Given the description of an element on the screen output the (x, y) to click on. 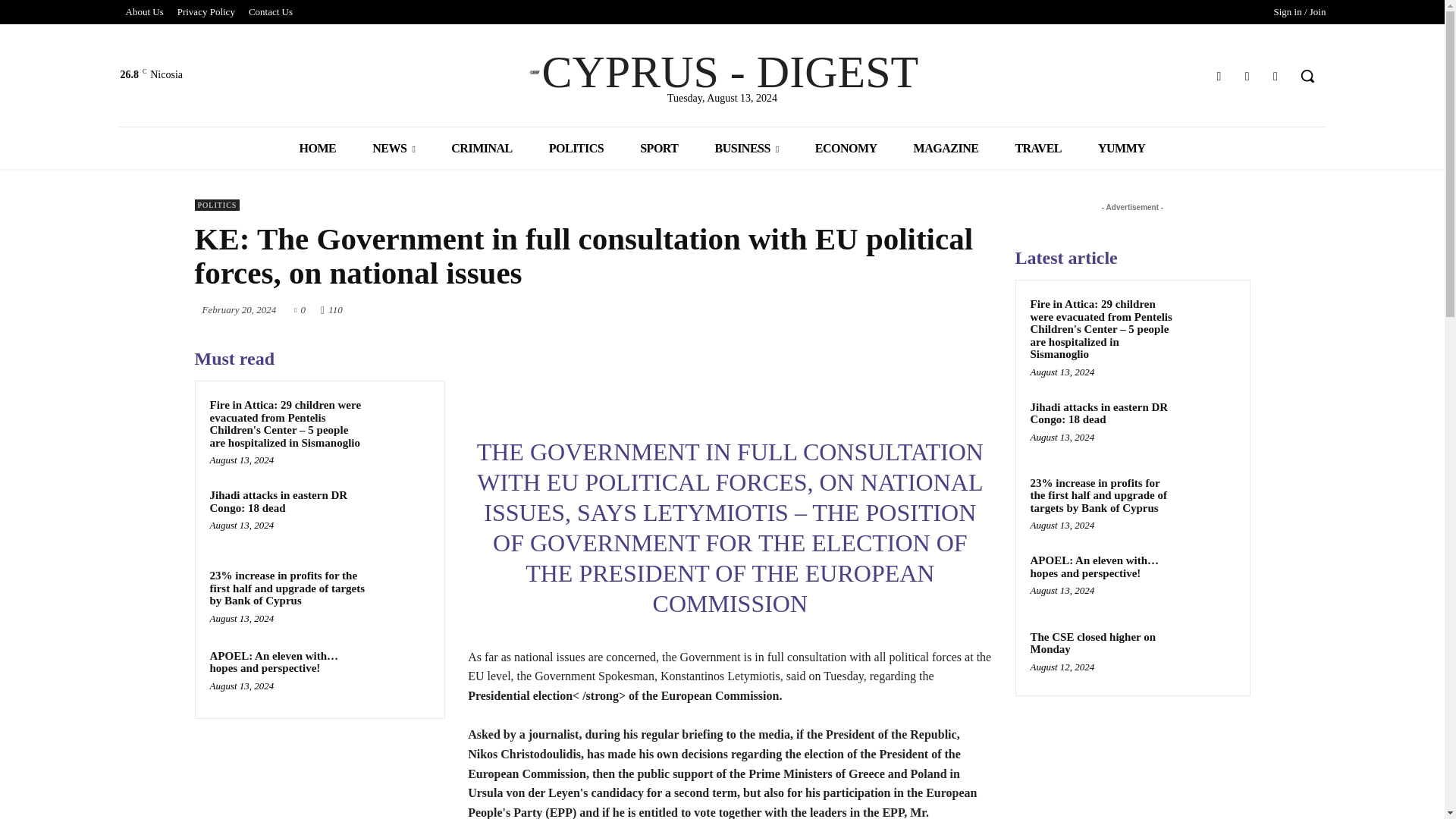
HOME (318, 147)
Privacy Policy (205, 12)
About Us (143, 12)
NEWS (392, 147)
CYPRUS - DIGEST (721, 71)
Facebook (1218, 76)
Twitter (1246, 76)
Contact Us (270, 12)
Youtube (1275, 76)
